Given the description of an element on the screen output the (x, y) to click on. 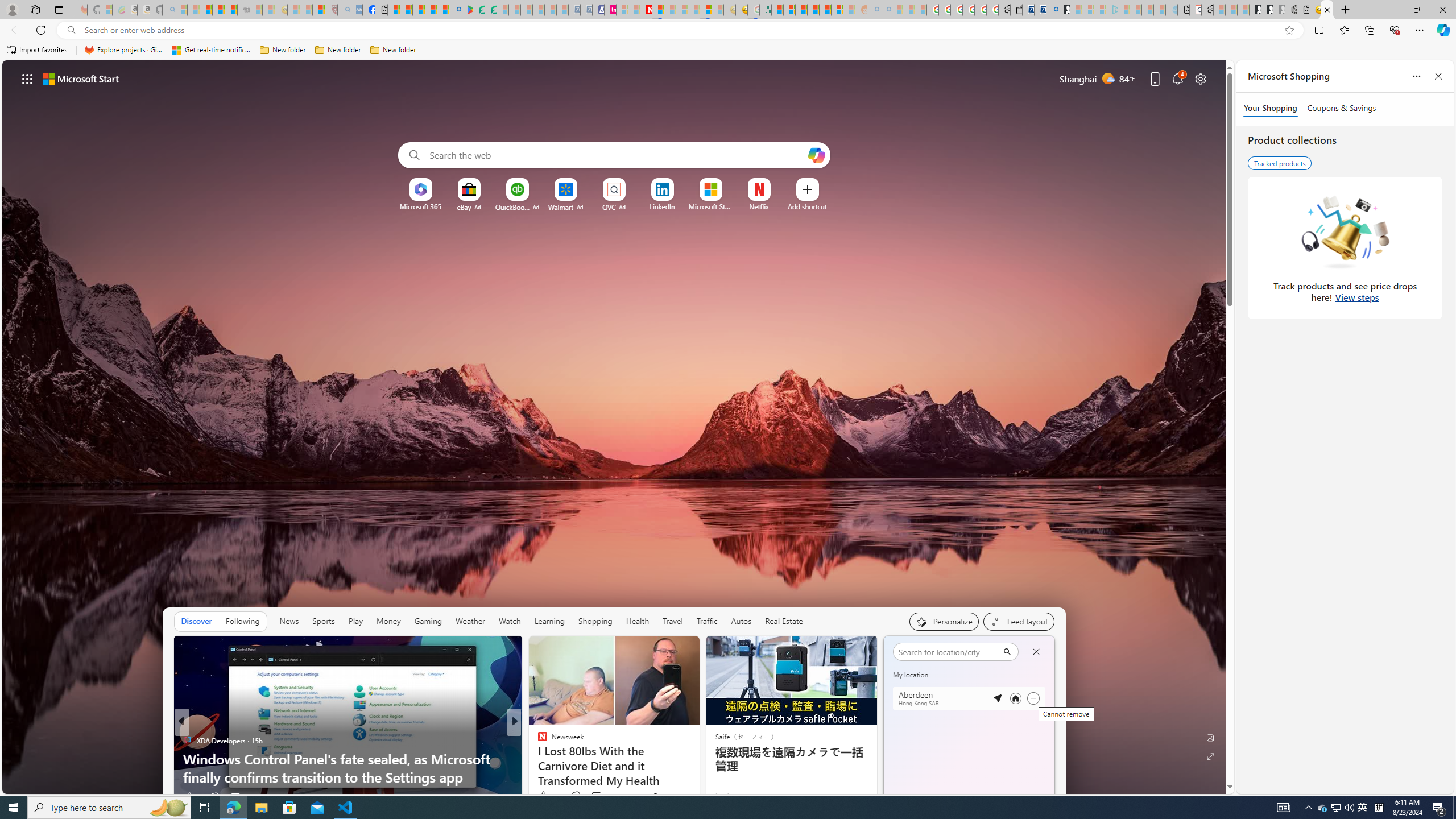
View comments 13 Comment (597, 796)
View comments 18 Comment (594, 796)
Add a site (807, 206)
Offline games - Android Apps on Google Play (466, 9)
